Given the description of an element on the screen output the (x, y) to click on. 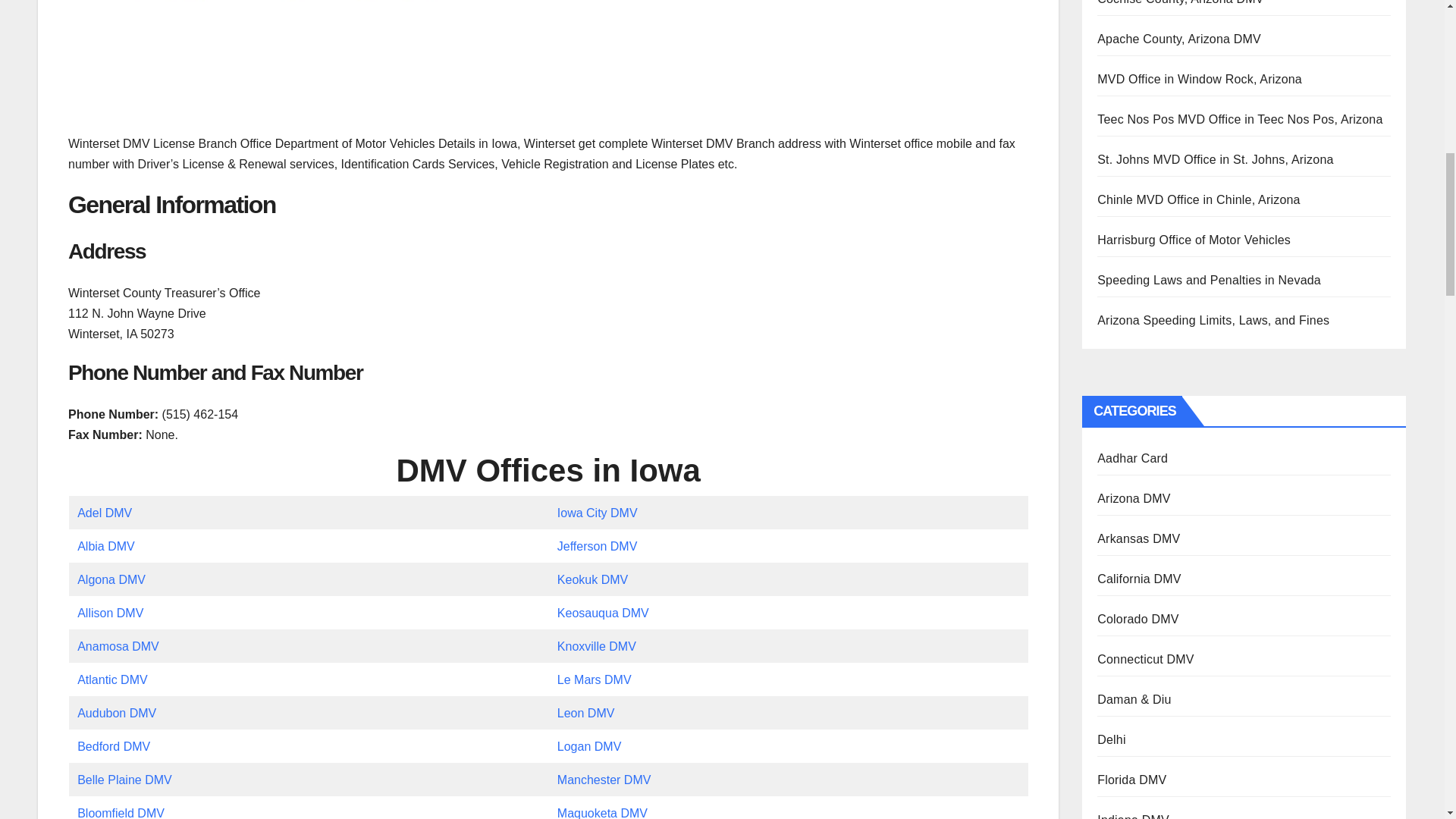
Jefferson DMV (597, 545)
Albia DMV (106, 545)
Adel DMV (104, 512)
Algona DMV (111, 579)
Iowa City DMV (597, 512)
